Given the description of an element on the screen output the (x, y) to click on. 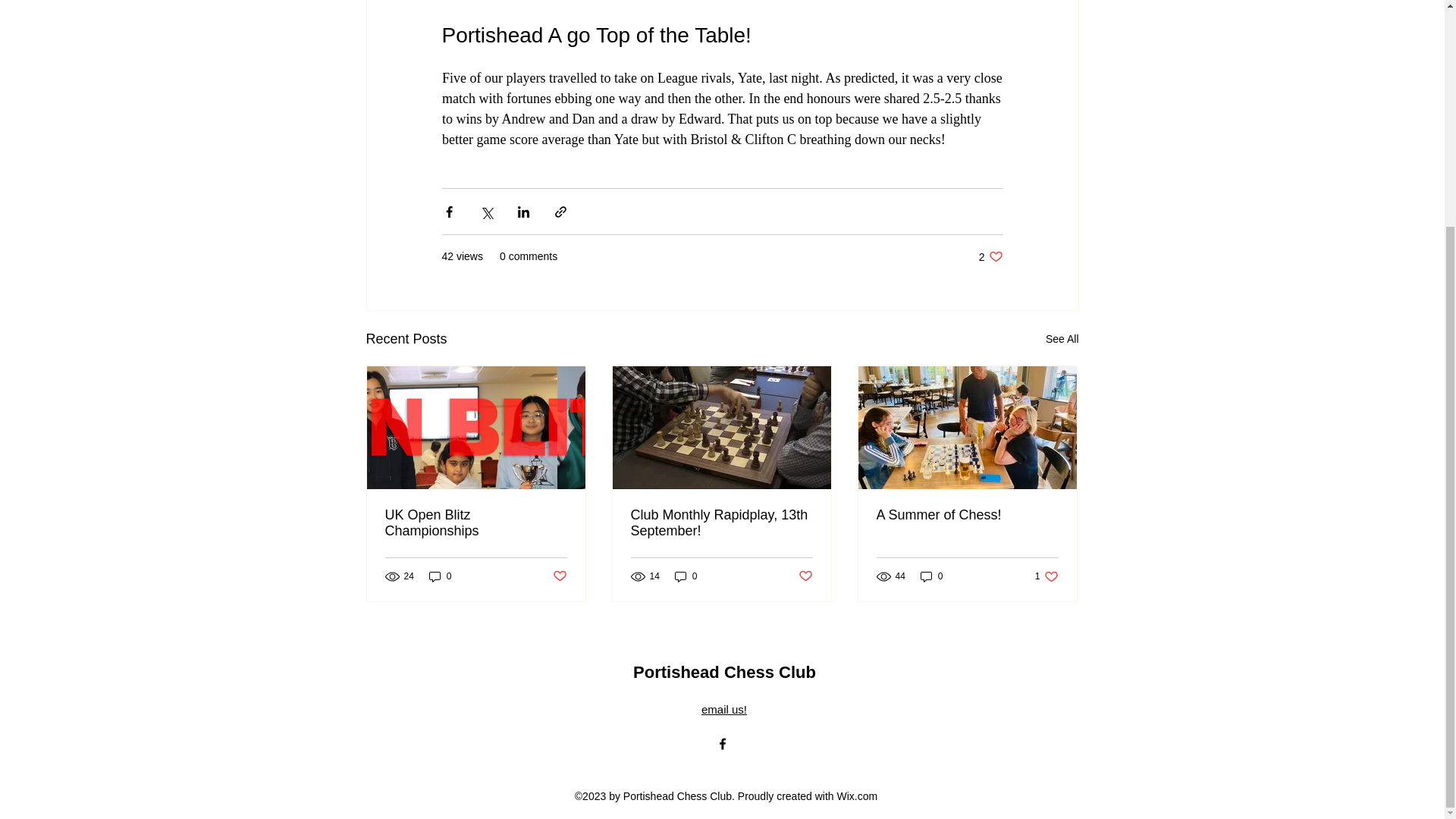
0 (990, 256)
email us! (685, 576)
See All (723, 708)
Post not marked as liked (1046, 576)
0 (1061, 339)
0 (558, 575)
Club Monthly Rapidplay, 13th September! (931, 576)
UK Open Blitz Championships (440, 576)
